Given the description of an element on the screen output the (x, y) to click on. 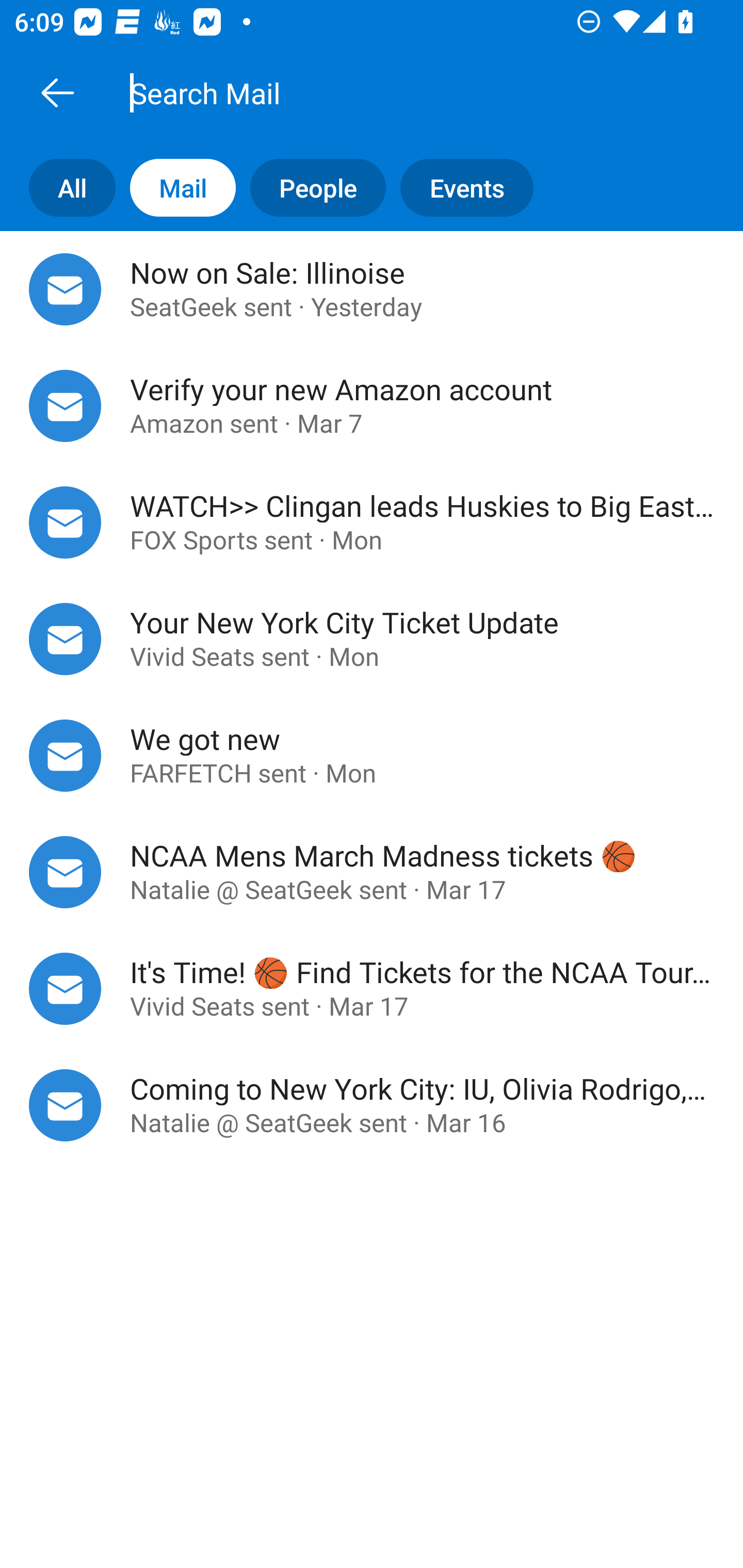
Back (57, 92)
Search Mail (394, 92)
All (57, 187)
People (310, 187)
Events (473, 187)
